Given the description of an element on the screen output the (x, y) to click on. 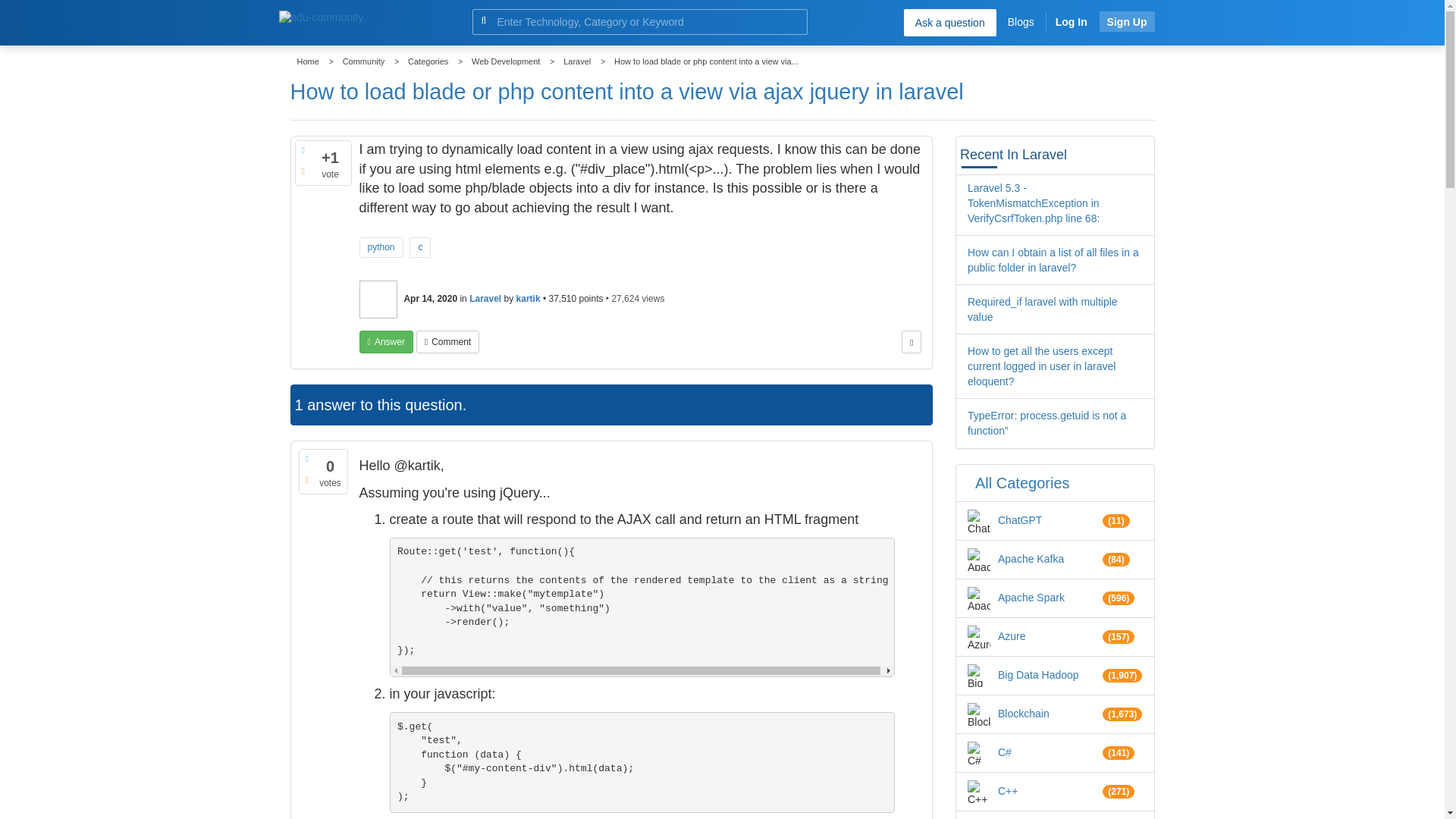
Blogs (1020, 21)
Answer this question (386, 341)
Ask a question (949, 22)
Add a comment on this question (447, 341)
